Given the description of an element on the screen output the (x, y) to click on. 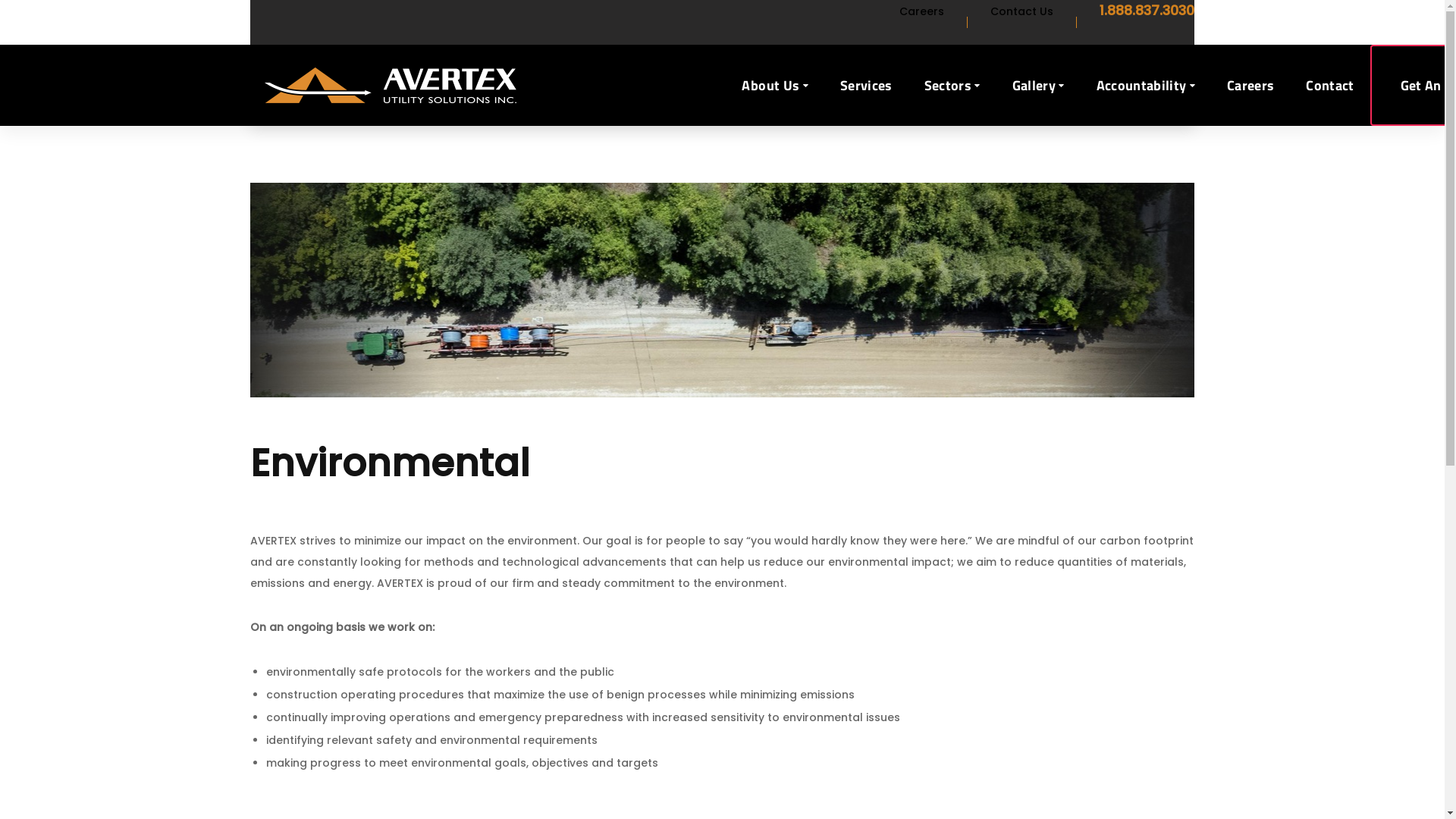
Contact Element type: text (1329, 84)
Contact Us Element type: text (1021, 10)
Careers Element type: text (1250, 84)
About Us Element type: text (774, 84)
Careers Element type: text (921, 10)
Sectors Element type: text (952, 84)
Gallery Element type: text (1038, 84)
Services Element type: text (866, 84)
1.888.837.3030 Element type: text (1146, 10)
Accountability Element type: text (1145, 84)
